Given the description of an element on the screen output the (x, y) to click on. 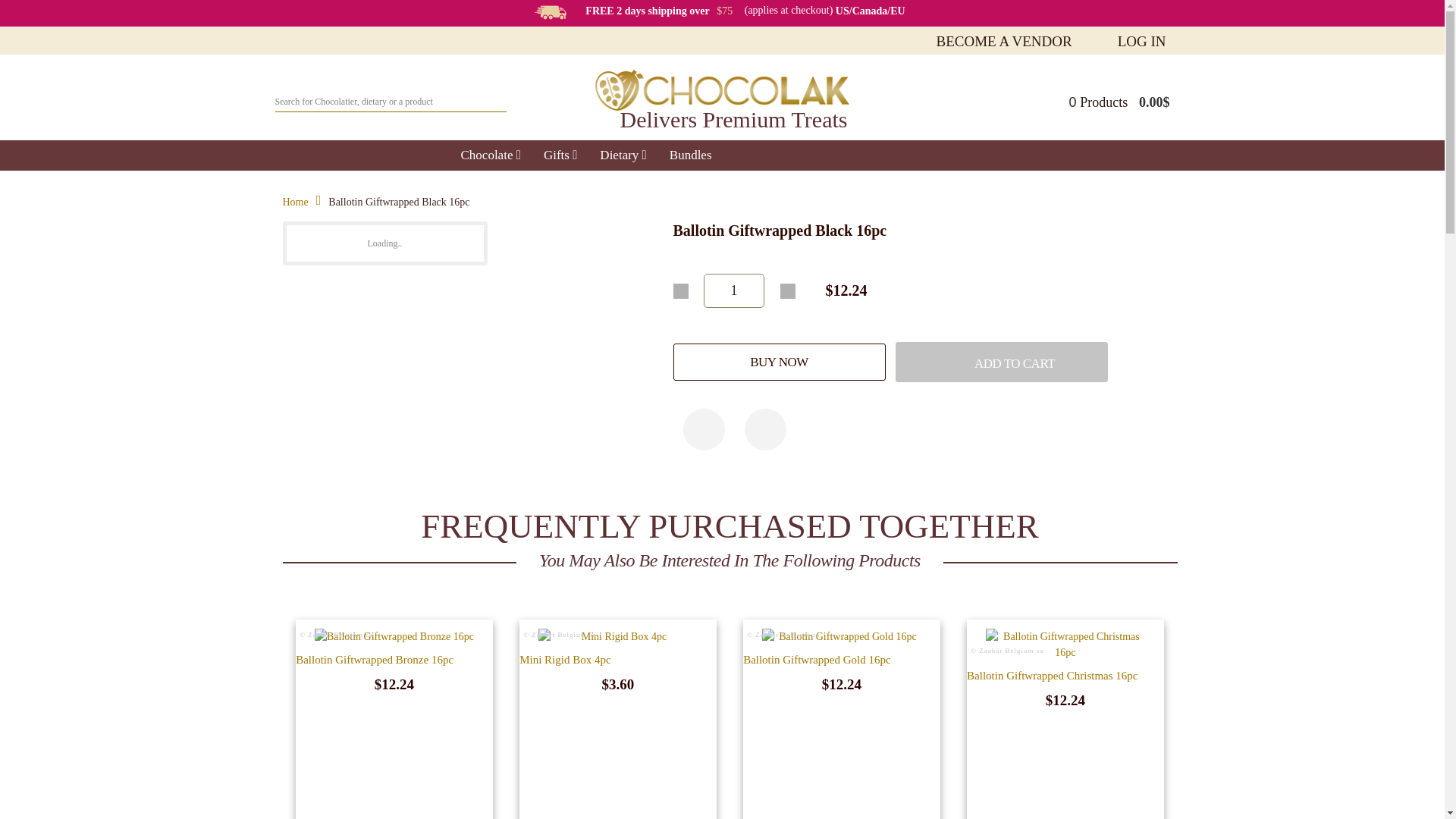
1 (733, 290)
Become a vendor (1003, 41)
Log In (1142, 41)
Delivers Premium Treats (722, 104)
BECOME A VENDOR (1003, 41)
Search (491, 97)
LOG IN (1142, 41)
